Given the description of an element on the screen output the (x, y) to click on. 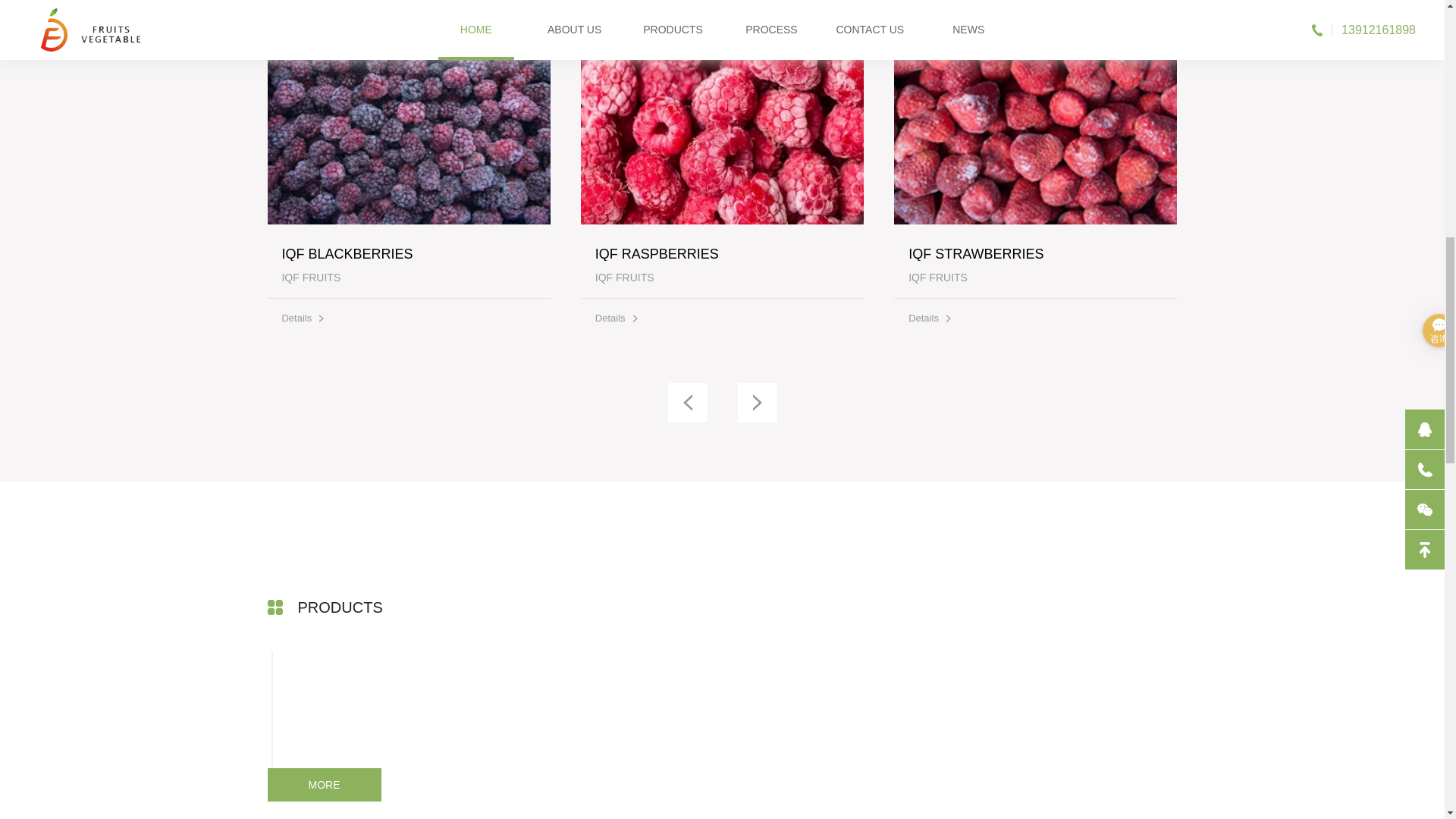
MORE (1034, 223)
